Given the description of an element on the screen output the (x, y) to click on. 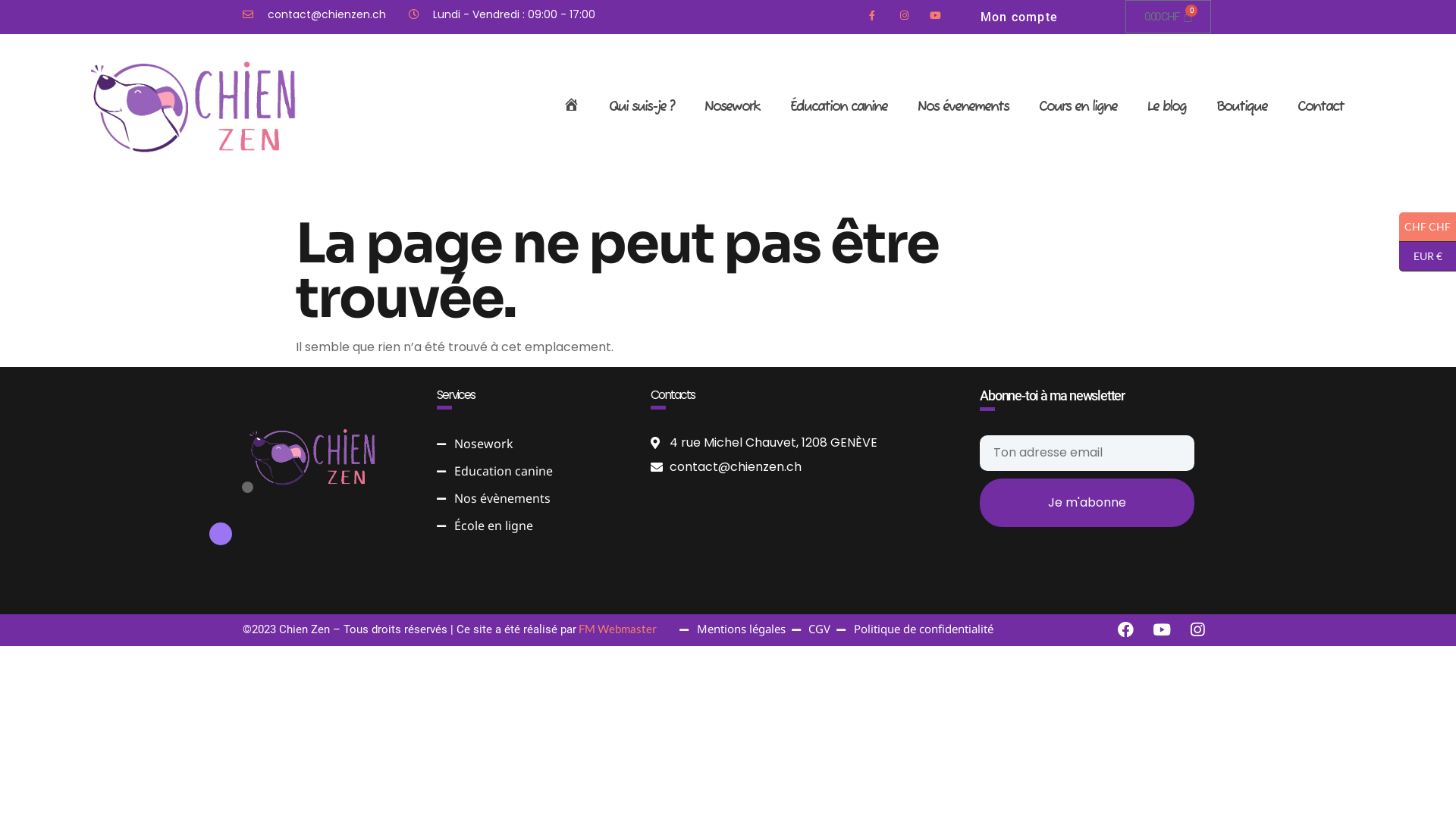
Boutique Element type: text (1241, 106)
Je m'abonne Element type: text (1086, 502)
Contact Element type: text (1320, 106)
CGV Element type: text (811, 630)
0.00 CHF
0 Element type: text (1168, 16)
Mon compte Element type: text (1019, 17)
Nosework Element type: text (531, 444)
Accueil Element type: text (570, 106)
Qui suis-je ? Element type: text (641, 106)
Le blog Element type: text (1166, 106)
 FM Webmaster Element type: text (616, 628)
Cours en ligne Element type: text (1077, 106)
Nosework Element type: text (732, 106)
Education canine Element type: text (531, 471)
